Given the description of an element on the screen output the (x, y) to click on. 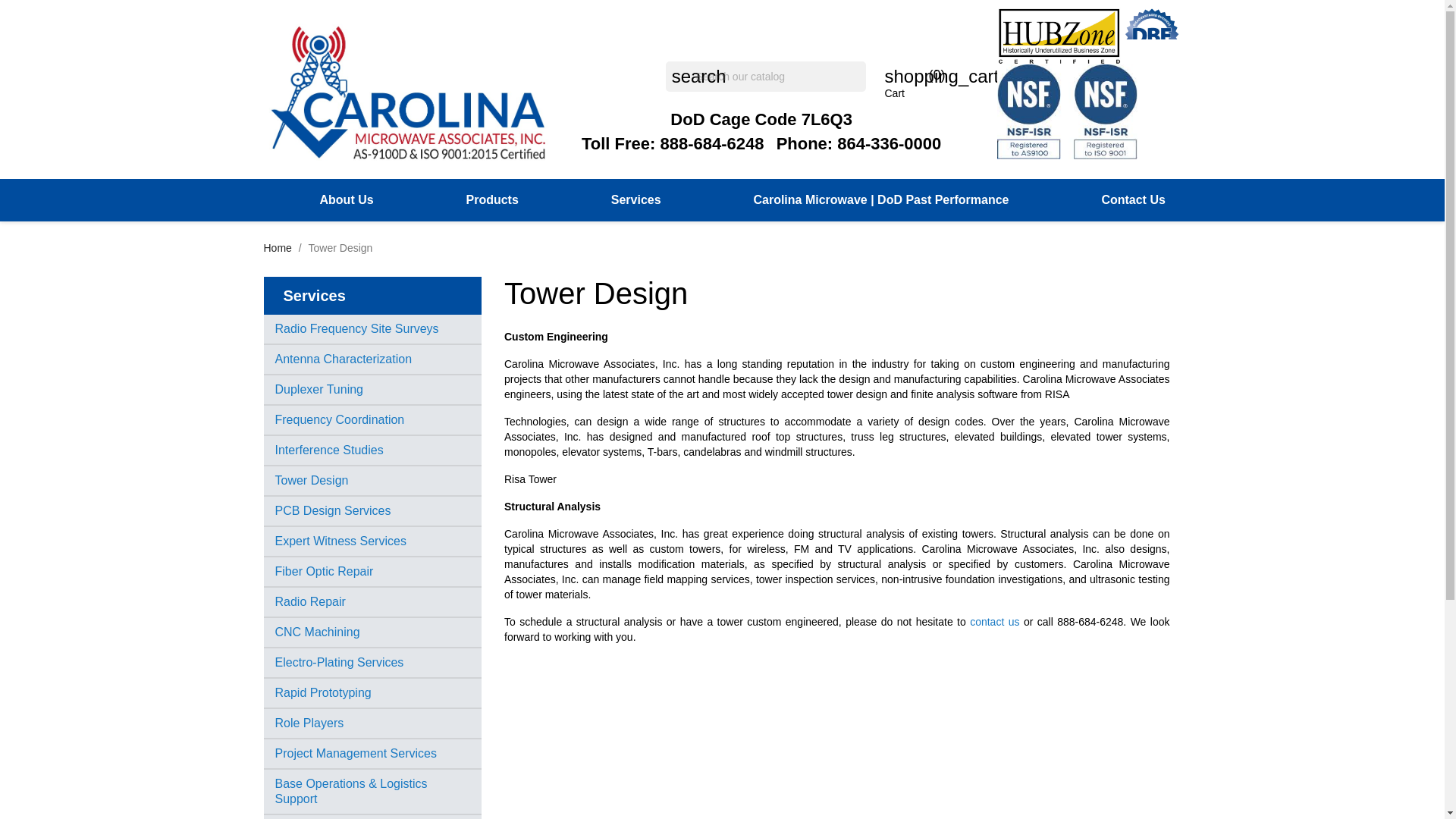
contact us (994, 621)
Radio Repair (310, 601)
Expert Witness Services (340, 540)
Products (491, 200)
as9100 certification (1110, 110)
About Us (347, 200)
Role Players (309, 722)
Antenna Characterization (343, 358)
Frequency Coordination (339, 419)
Services (636, 200)
